Given the description of an element on the screen output the (x, y) to click on. 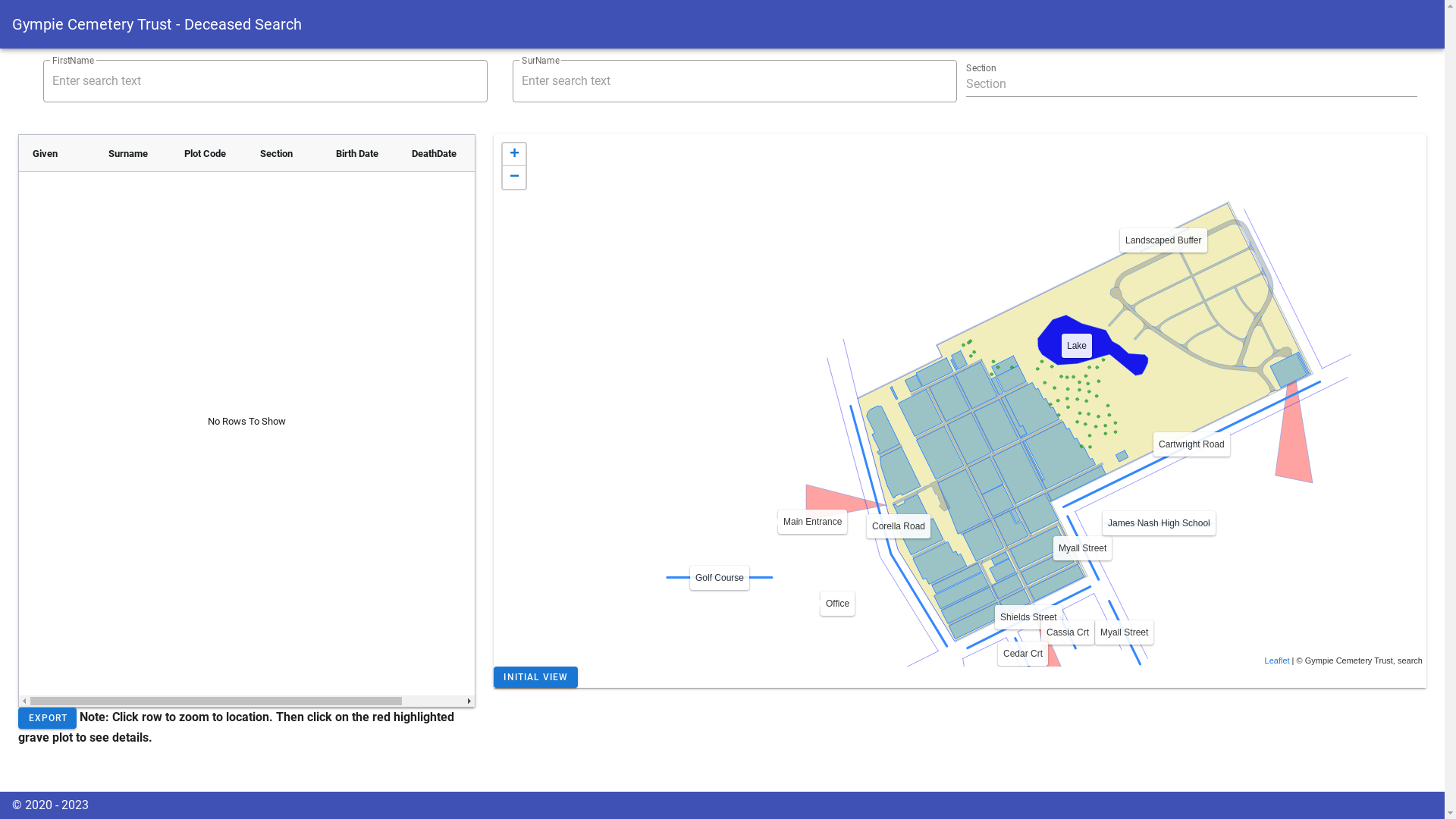
Leaflet Element type: text (1276, 659)
+ Element type: text (513, 154)
INITIAL VIEW Element type: text (535, 676)
EXPORT Element type: text (47, 717)
